Given the description of an element on the screen output the (x, y) to click on. 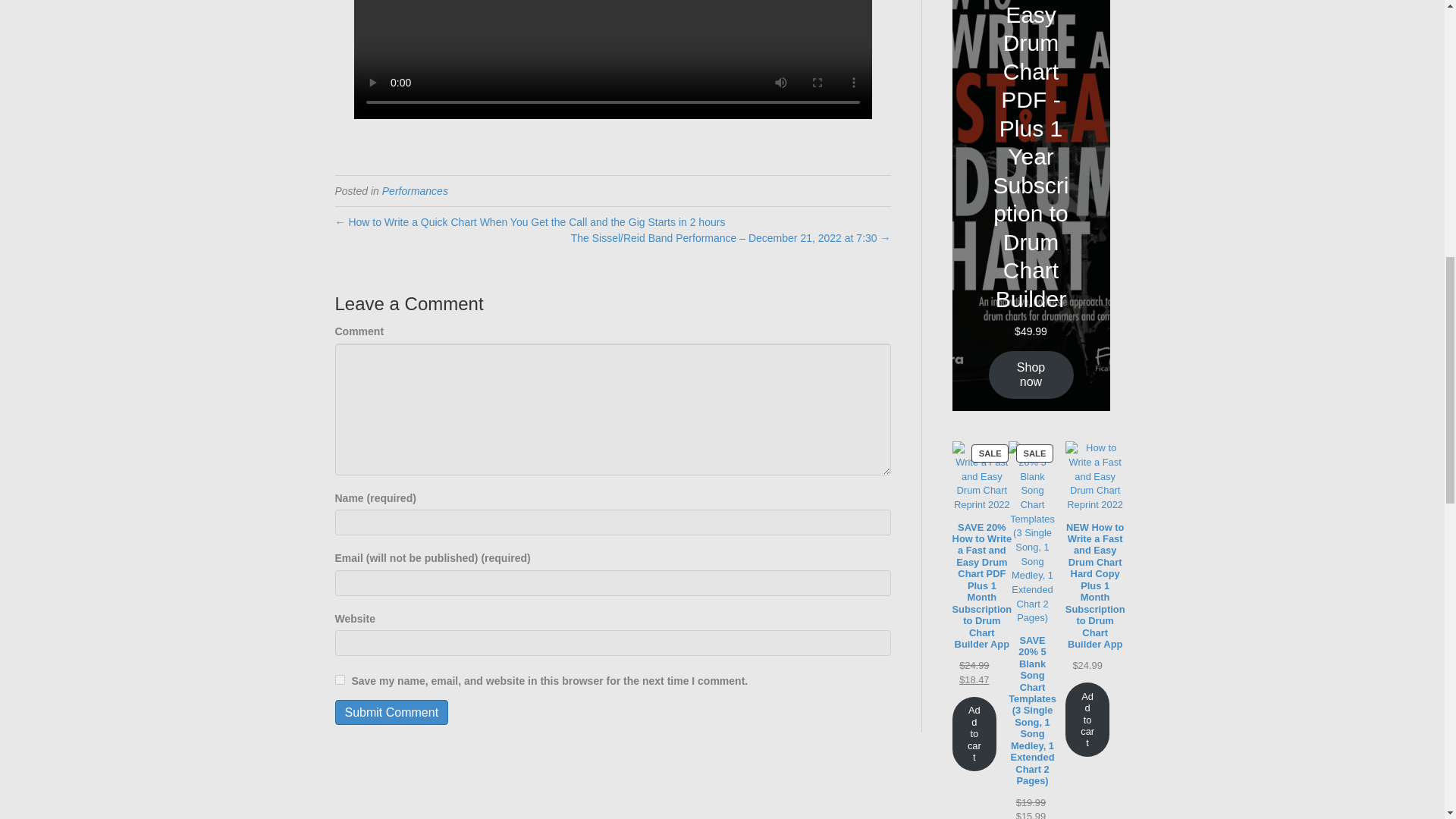
Submit Comment (391, 712)
yes (339, 679)
Performances (414, 191)
Submit Comment (391, 712)
